Given the description of an element on the screen output the (x, y) to click on. 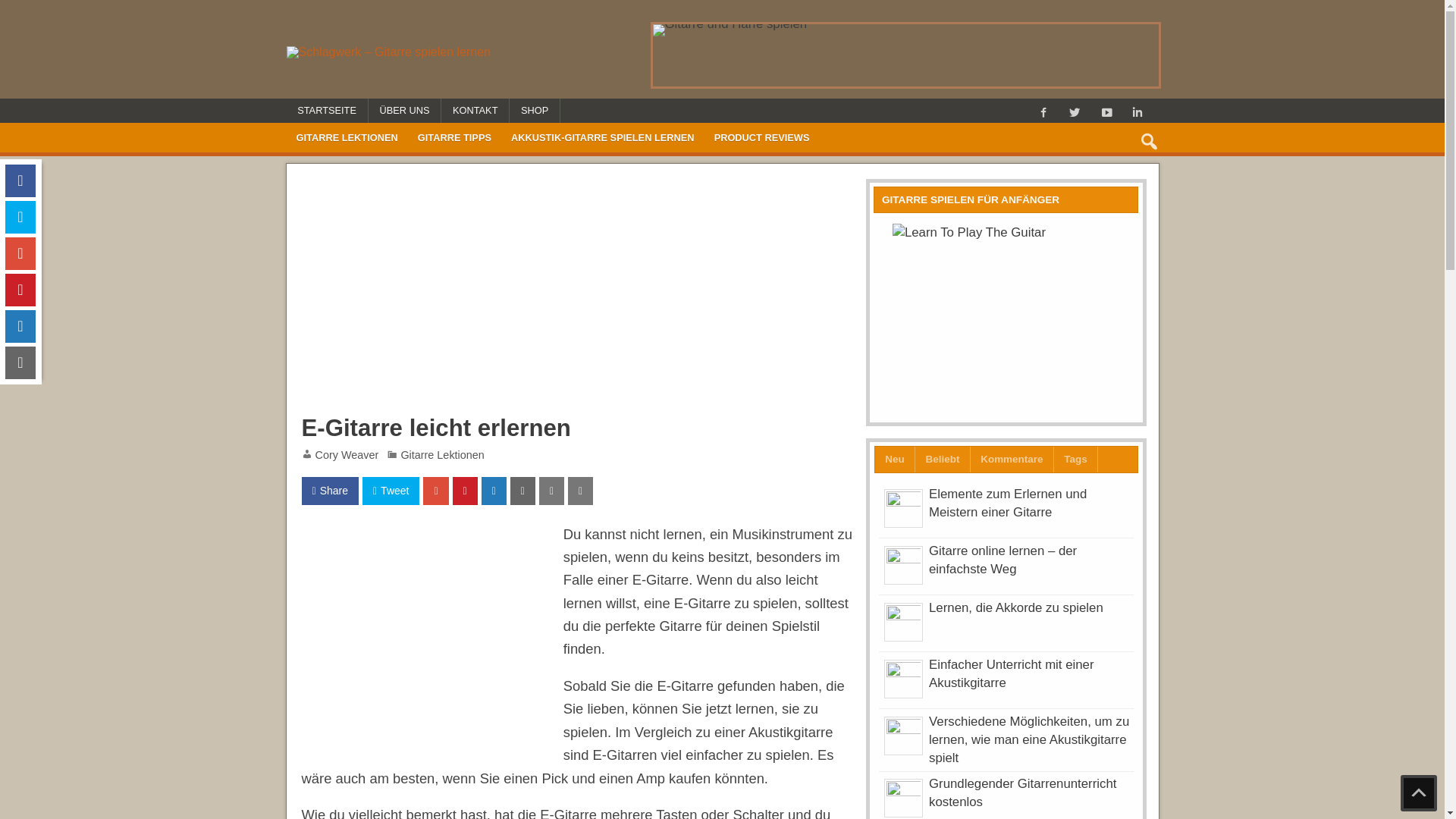
Beliebt Element type: text (942, 458)
Gitarre Lektionen Element type: text (441, 454)
GITARRE TIPPS Element type: text (454, 137)
Tweet on Twitter Element type: hover (20, 216)
Cory Weaver Element type: text (347, 454)
Grundlegender Gitarrenunterricht kostenlos Element type: text (1022, 792)
Share On Google Plus Element type: hover (435, 490)
STARTSEITE Element type: text (327, 110)
Pin On Pinterest Element type: hover (464, 490)
Send email this article Element type: hover (20, 362)
GITARRE LEKTIONEN Element type: text (346, 137)
Kommentare Element type: text (1012, 458)
Share Element type: text (329, 490)
Share On Google Plus Element type: hover (20, 253)
Share On Linkedin Element type: hover (493, 490)
Learn To Play The Guitar Element type: hover (1006, 318)
AKKUSTIK-GITARRE SPIELEN LERNEN Element type: text (602, 137)
SHOP Element type: text (534, 110)
Send email this article Element type: hover (522, 490)
KONTAKT Element type: text (475, 110)
Advertisement Element type: hover (428, 639)
Pin On Pinterest Element type: hover (20, 289)
Einfacher Unterricht mit einer Akustikgitarre Element type: text (1011, 673)
Advertisement Element type: hover (577, 291)
Tweet Element type: text (390, 490)
Learn To Play The Guitar Element type: hover (1005, 318)
Elemente zum Erlernen und Meistern einer Gitarre Element type: text (1007, 502)
Gitarre und Harfe spielen Element type: hover (904, 55)
Lernen, die Akkorde zu spielen Element type: text (1015, 607)
Tags Element type: text (1076, 458)
Share On Facebook Element type: hover (20, 180)
PRODUCT REVIEWS Element type: text (761, 137)
Share On Linkedin Element type: hover (20, 326)
Neu Element type: text (895, 458)
